Given the description of an element on the screen output the (x, y) to click on. 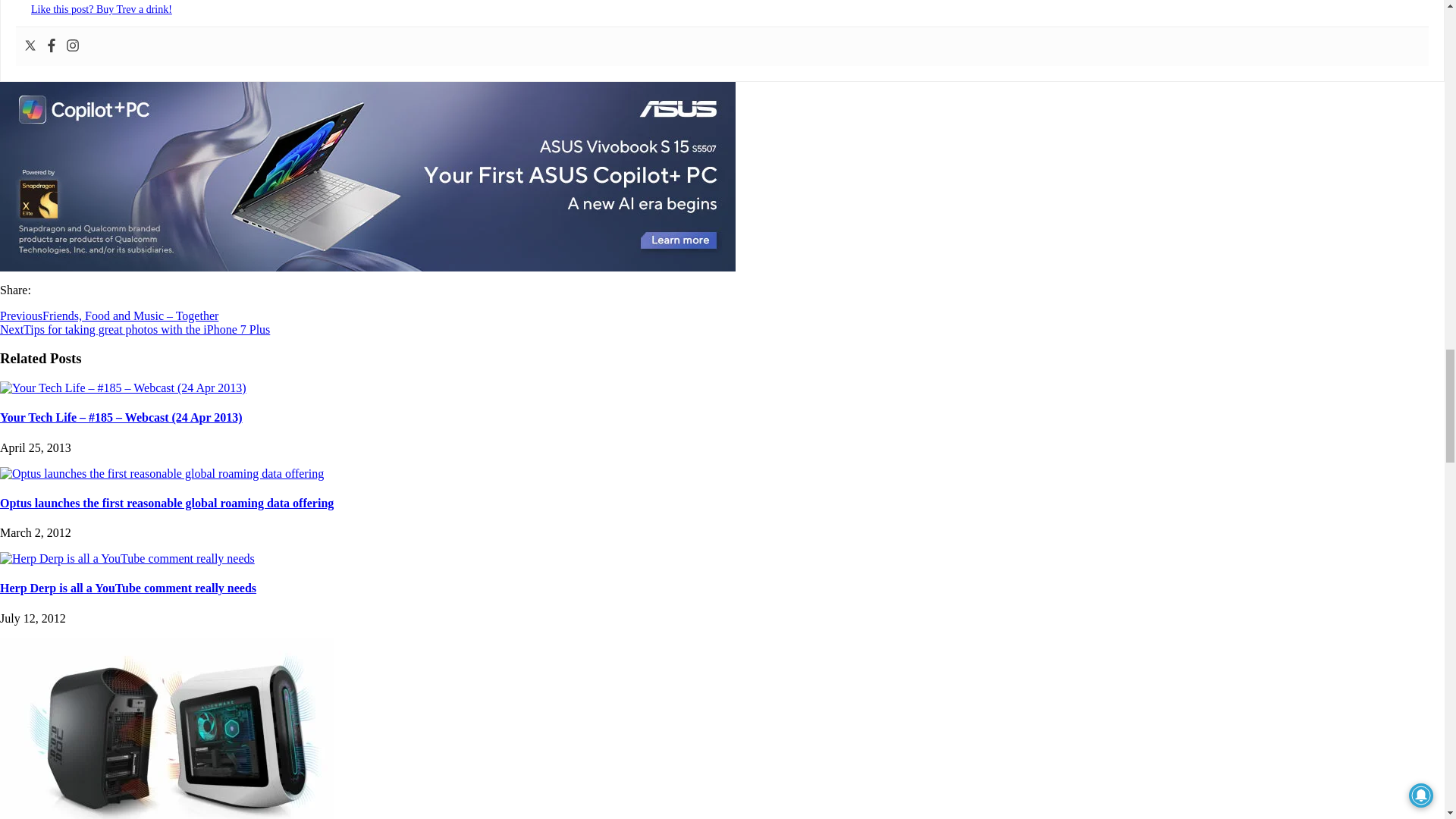
Herp Derp is all a YouTube comment really needs (127, 558)
Like this post? Buy Trev a drink! (100, 9)
